Given the description of an element on the screen output the (x, y) to click on. 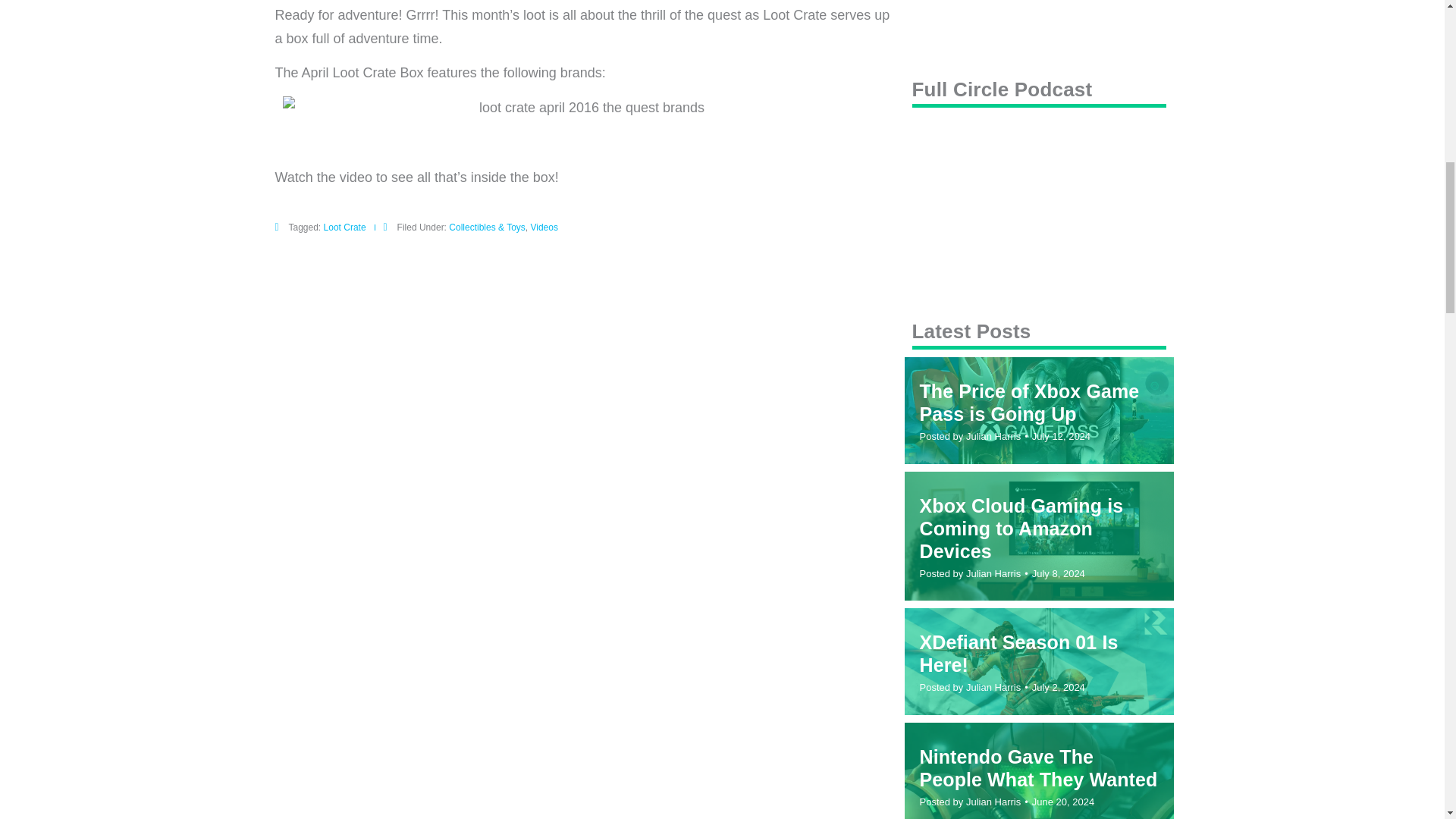
2024-07-02T12:40:07-05:00 (1058, 686)
2024-06-20T18:12:17-05:00 (1063, 801)
2024-07-08T08:37:13-05:00 (1058, 573)
2024-07-12T11:38:22-05:00 (1061, 436)
